Given the description of an element on the screen output the (x, y) to click on. 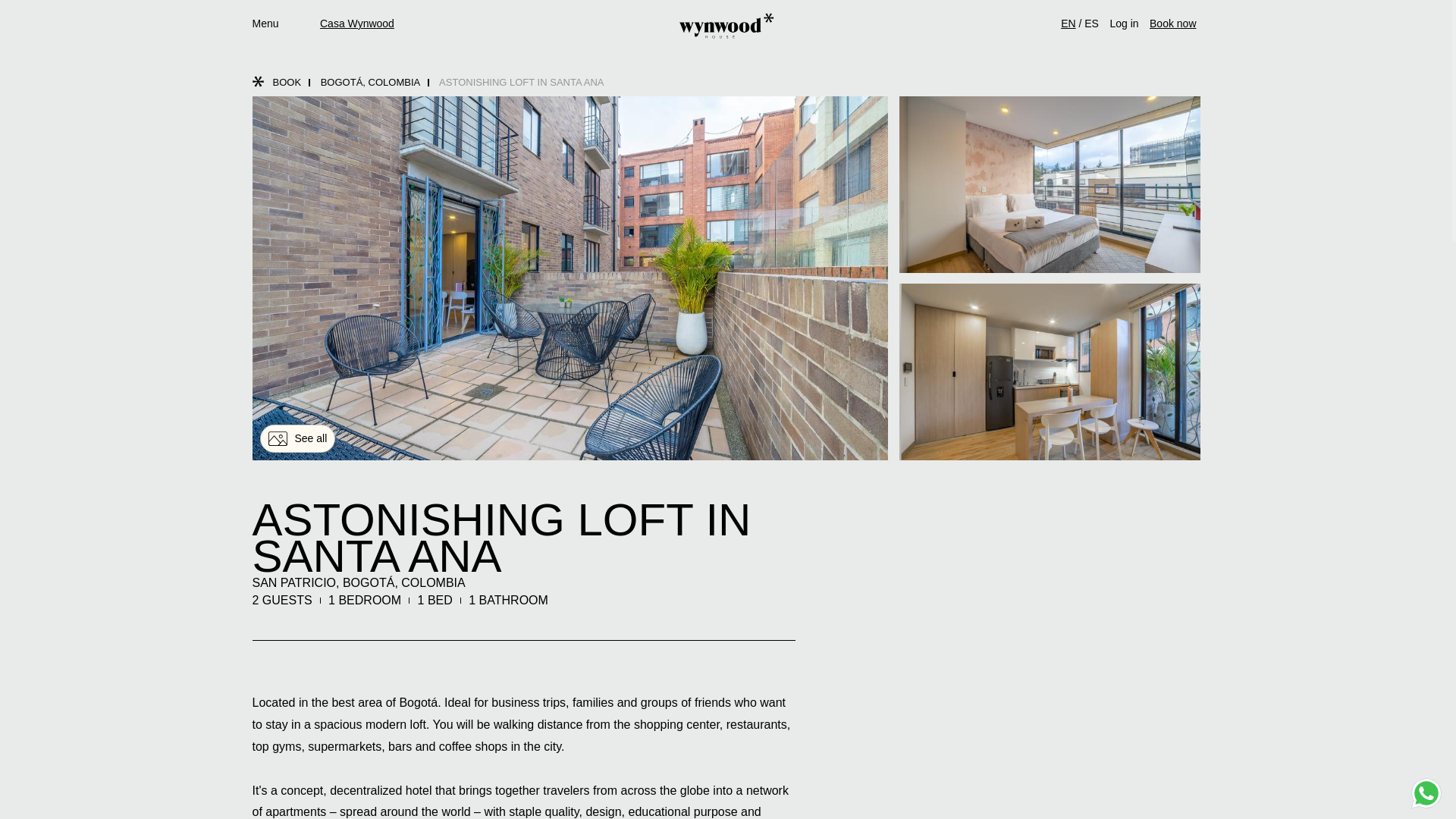
Casa Wynwood (357, 23)
Log in (1123, 23)
Menu (264, 23)
Book now (1172, 23)
